Given the description of an element on the screen output the (x, y) to click on. 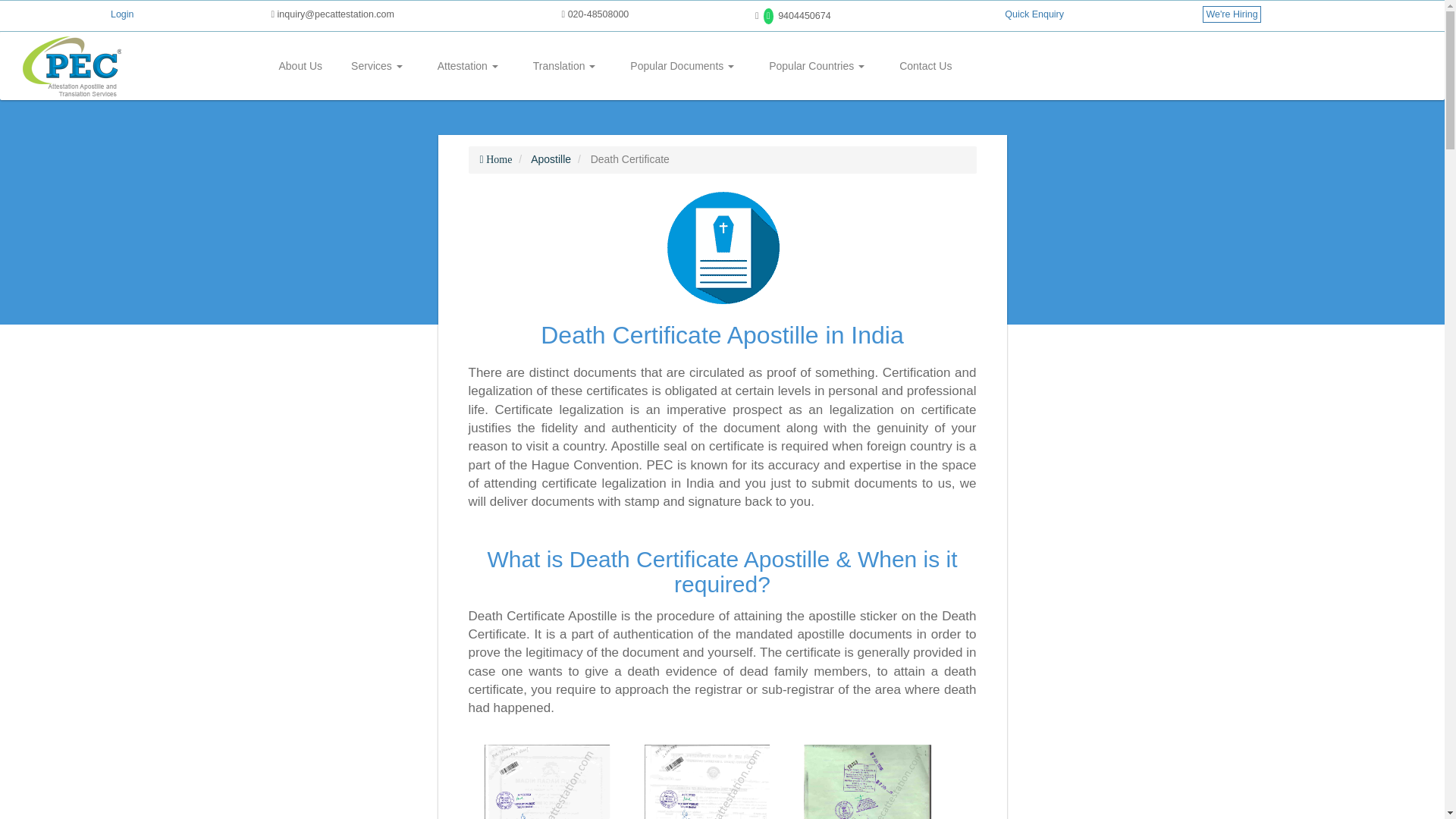
Quick Enquiry (1034, 14)
Popular Documents (681, 65)
Contact Us (925, 65)
Translation (564, 65)
 We're Hiring (1231, 13)
About Us (299, 65)
We're Hiring (1231, 13)
Educational Degree Certificate Apostille (707, 781)
020-48508000 (595, 14)
Services (376, 65)
Attestation (467, 65)
Services (376, 65)
Login (121, 14)
Personal Document Birth Certificate Apostille (547, 781)
9404450674 (793, 15)
